Given the description of an element on the screen output the (x, y) to click on. 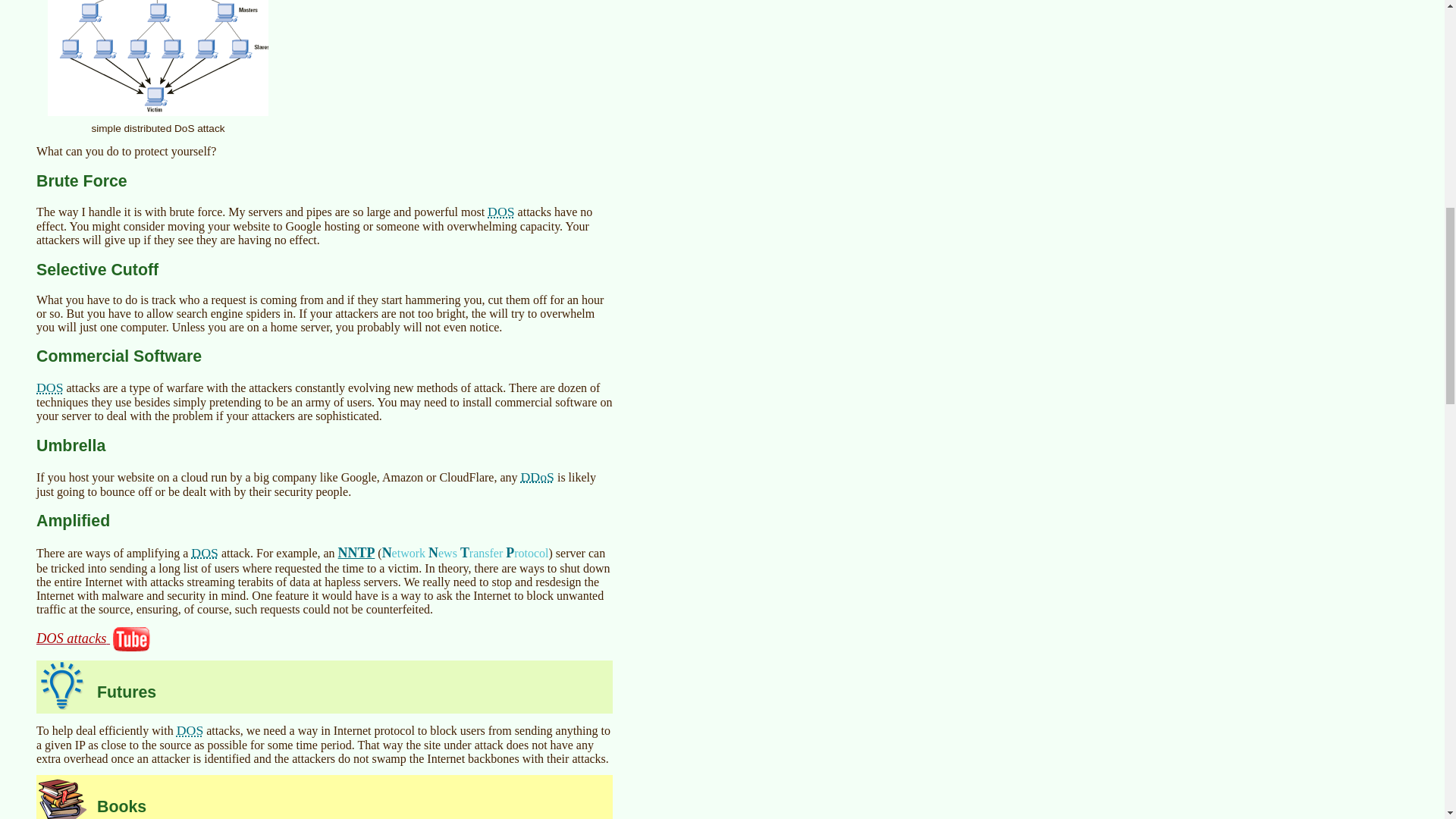
Distributed Denial of Service attack (537, 476)
Denial of Service attack (204, 552)
Denial of Service attack (50, 387)
Denial of Service attack (501, 211)
Denial of Service attack (189, 729)
